Given the description of an element on the screen output the (x, y) to click on. 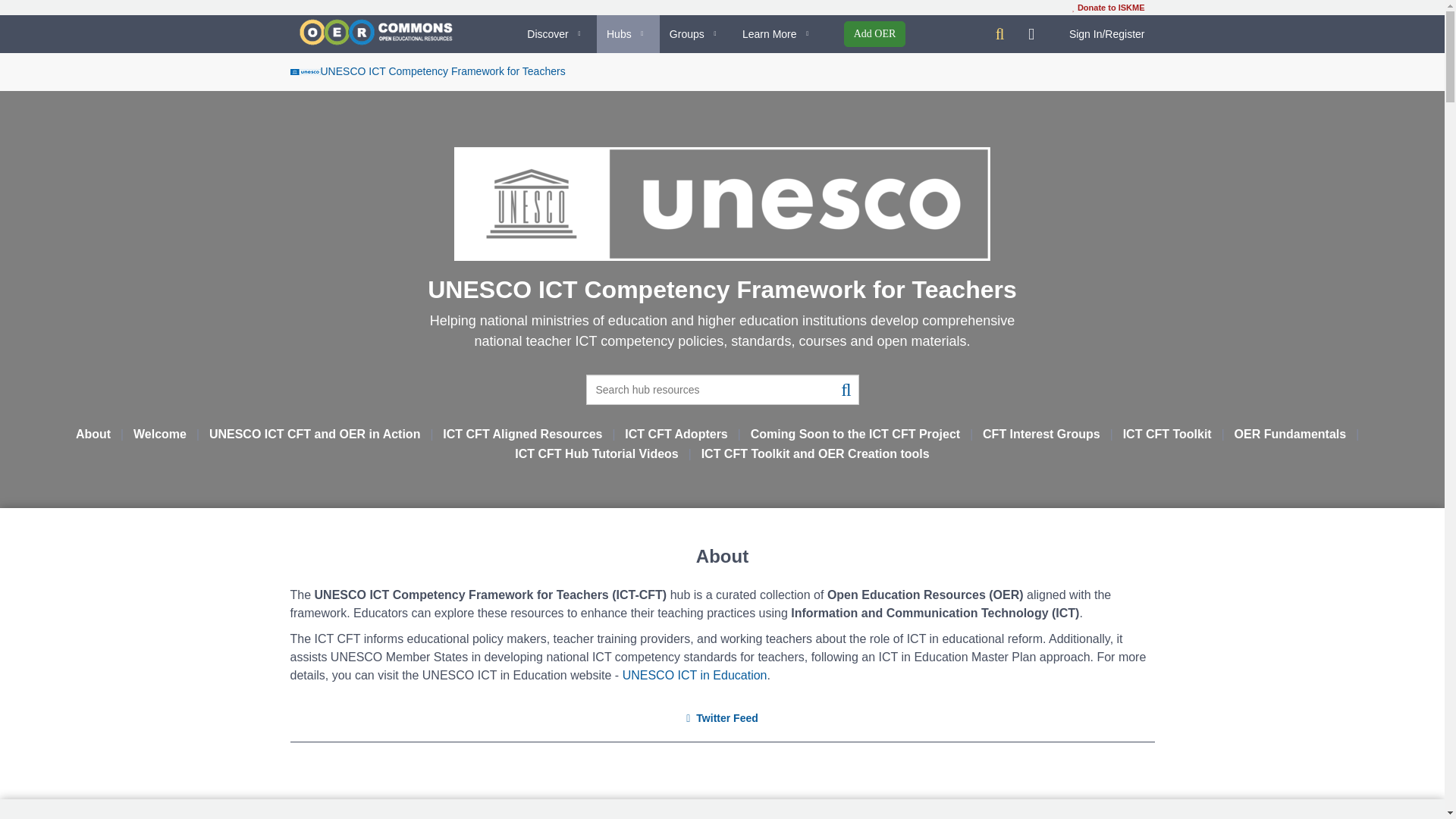
Hubs (627, 34)
Add OER (874, 33)
Show add OER options (874, 33)
Donate to ISKME (1107, 7)
Learn More (778, 34)
UNESCO ICT Competency Framework for Teachers (426, 70)
Discover (556, 34)
Groups (695, 34)
